Given the description of an element on the screen output the (x, y) to click on. 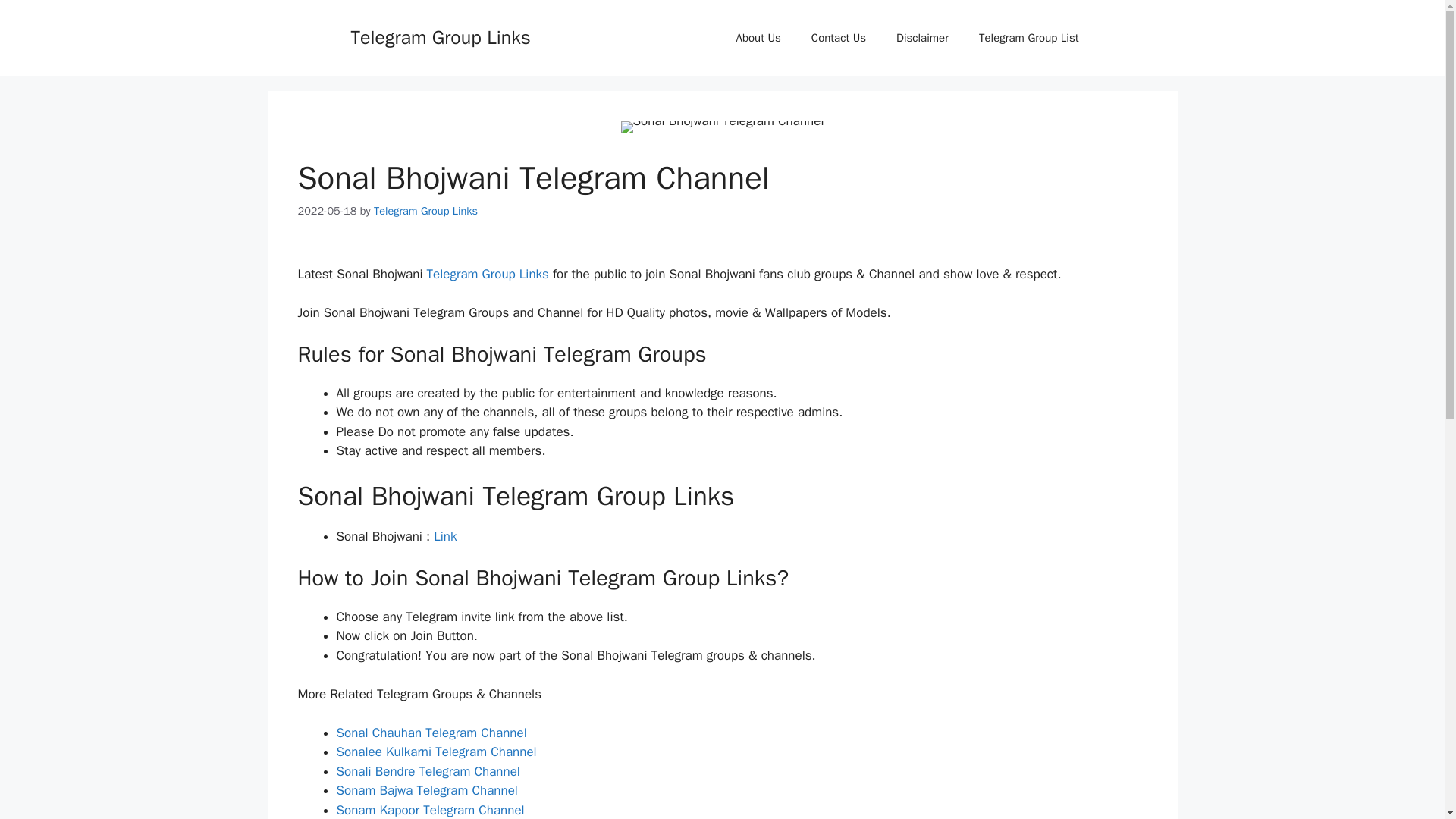
Telegram Group Links (425, 210)
Sonali Bendre Telegram Channel (427, 771)
Telegram Group Links (439, 37)
Sonam Kapoor Telegram Channel (430, 810)
Contact Us (838, 37)
View all posts by Telegram Group Links (425, 210)
Sonalee Kulkarni Telegram Channel (436, 751)
Telegram Group List (1028, 37)
Sonal Chauhan Telegram Channel (431, 732)
Telegram Group Links (487, 273)
Disclaimer (921, 37)
About Us (758, 37)
Sonam Bajwa Telegram Channel (427, 790)
Link (445, 536)
